Given the description of an element on the screen output the (x, y) to click on. 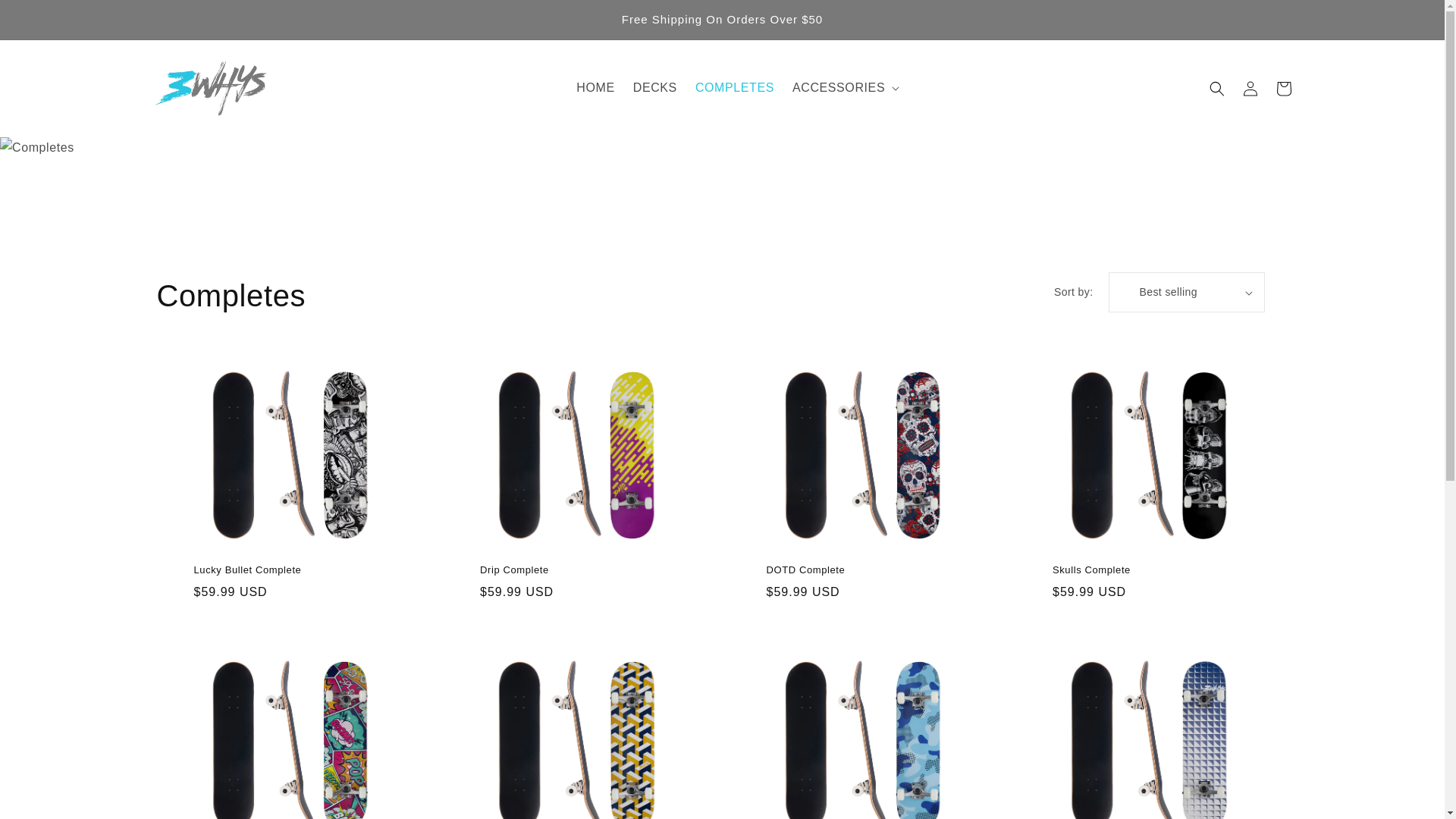
Cart Element type: text (1282, 87)
Skulls Complete Element type: text (1143, 570)
DOTD Complete Element type: text (856, 570)
COMPLETES Element type: text (734, 88)
HOME Element type: text (595, 88)
Lucky Bullet Complete Element type: text (285, 570)
Drip Complete Element type: text (571, 570)
DECKS Element type: text (655, 88)
Log in Element type: text (1249, 87)
